Given the description of an element on the screen output the (x, y) to click on. 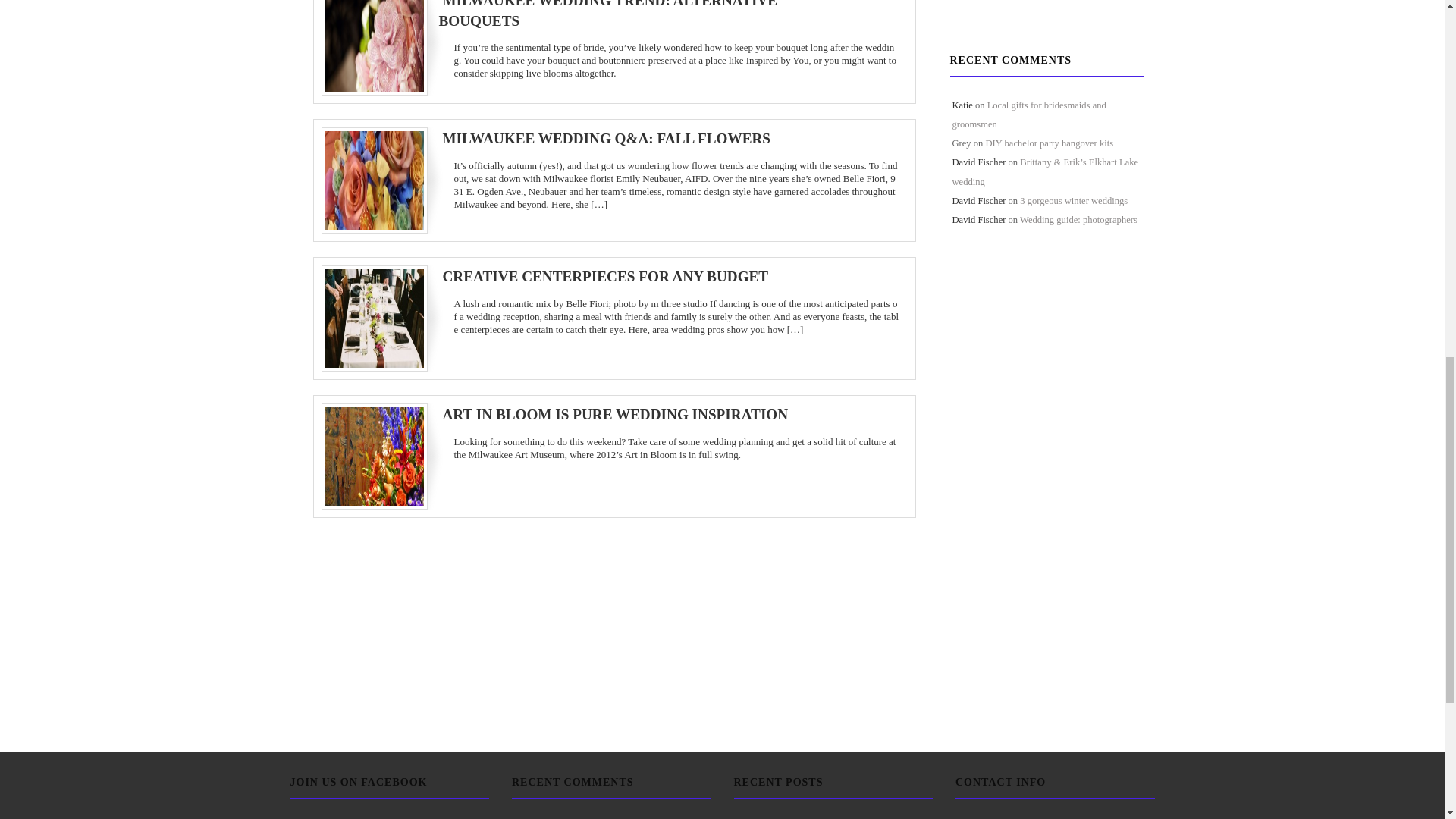
MILWAUKEE WEDDING TREND: ALTERNATIVE BOUQUETS (607, 13)
